Given the description of an element on the screen output the (x, y) to click on. 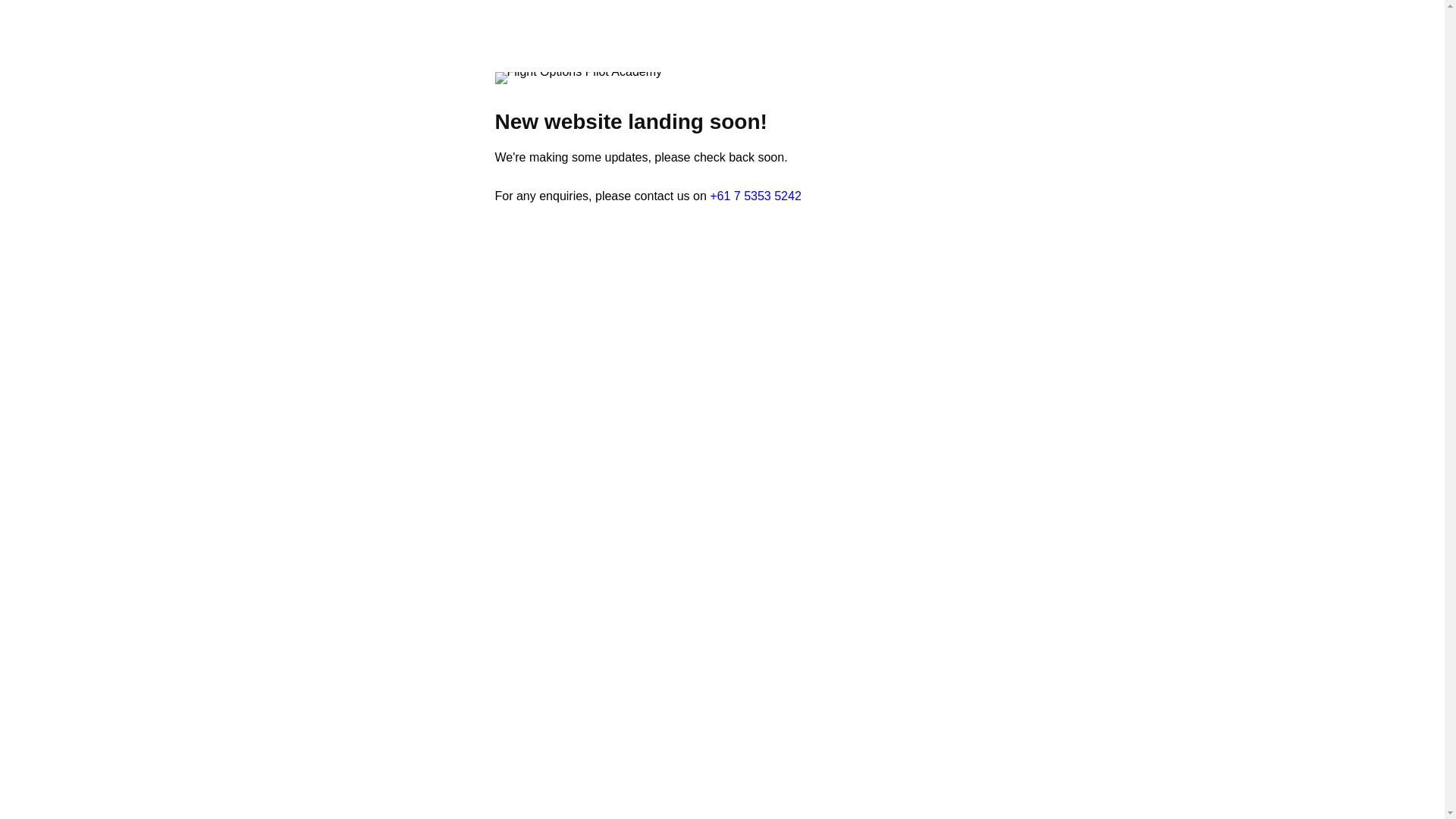
Flight Options Pilot Academy Element type: hover (578, 78)
+61 7 5353 5242 Element type: text (755, 195)
